Given the description of an element on the screen output the (x, y) to click on. 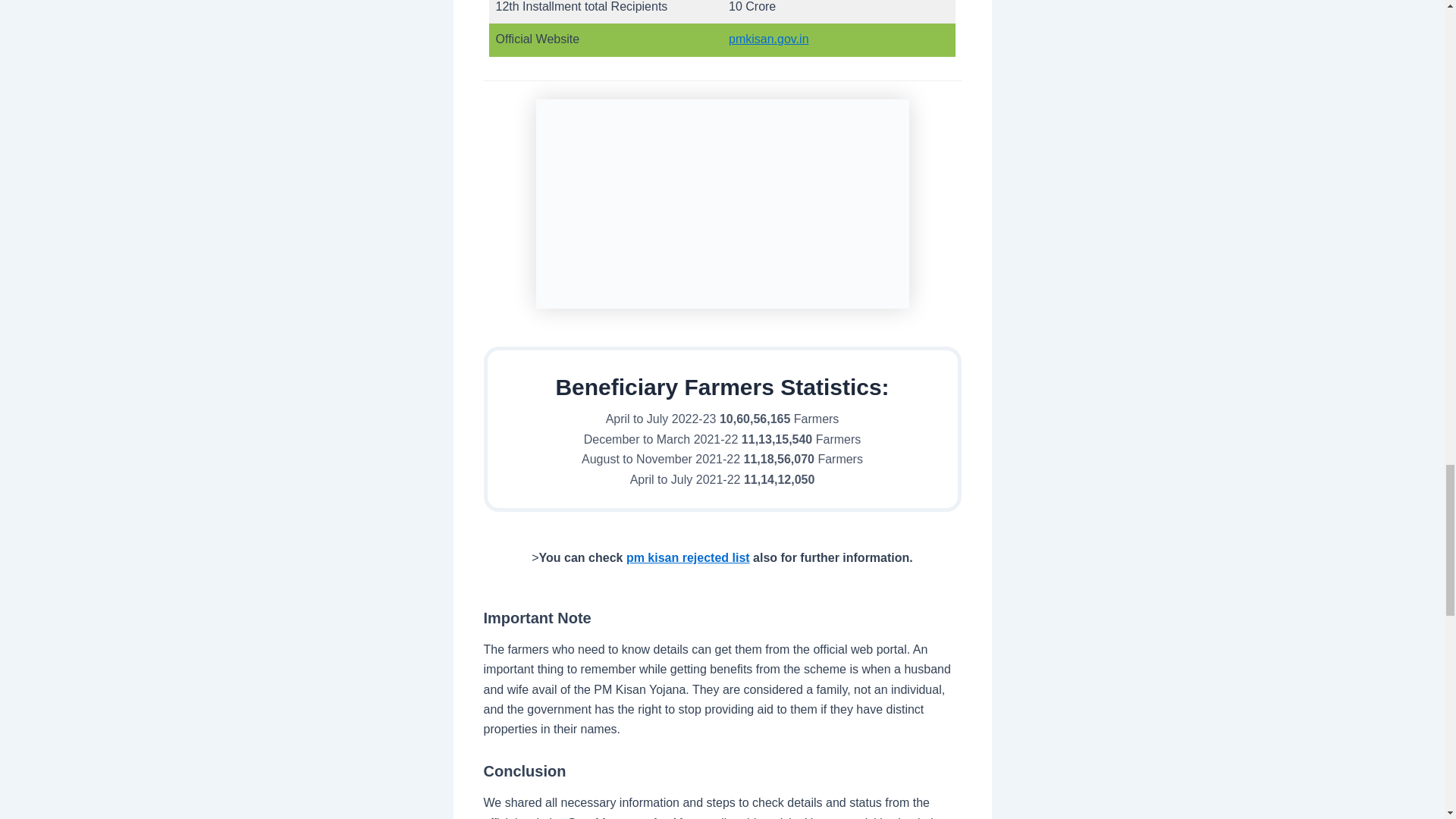
pm kisan rejected list (687, 557)
pmkisan.gov.in (769, 38)
